Given the description of an element on the screen output the (x, y) to click on. 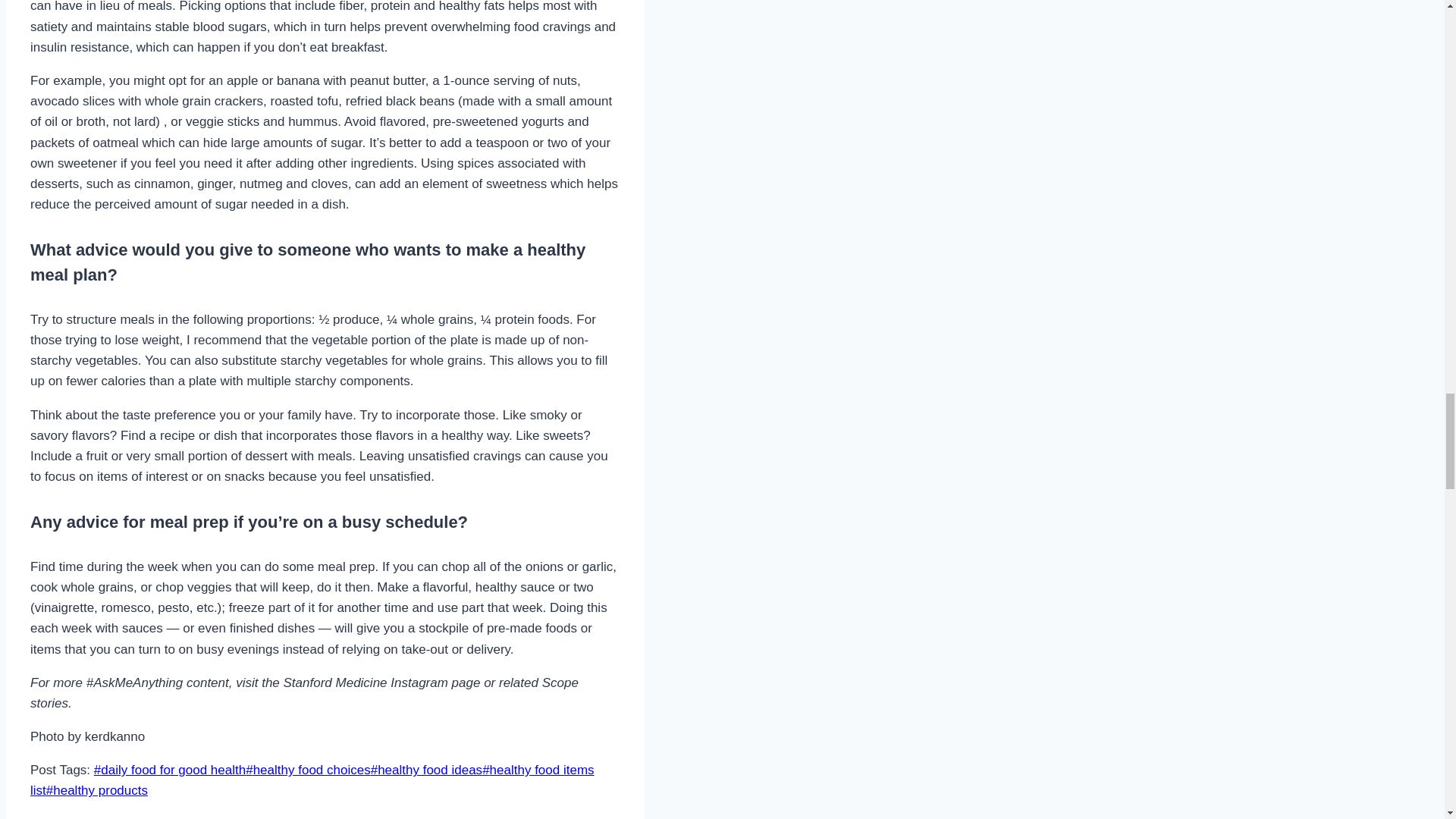
healthy products (97, 789)
healthy food items list (312, 779)
healthy food choices (307, 769)
healthy food ideas (426, 769)
daily food for good health (170, 769)
